Given the description of an element on the screen output the (x, y) to click on. 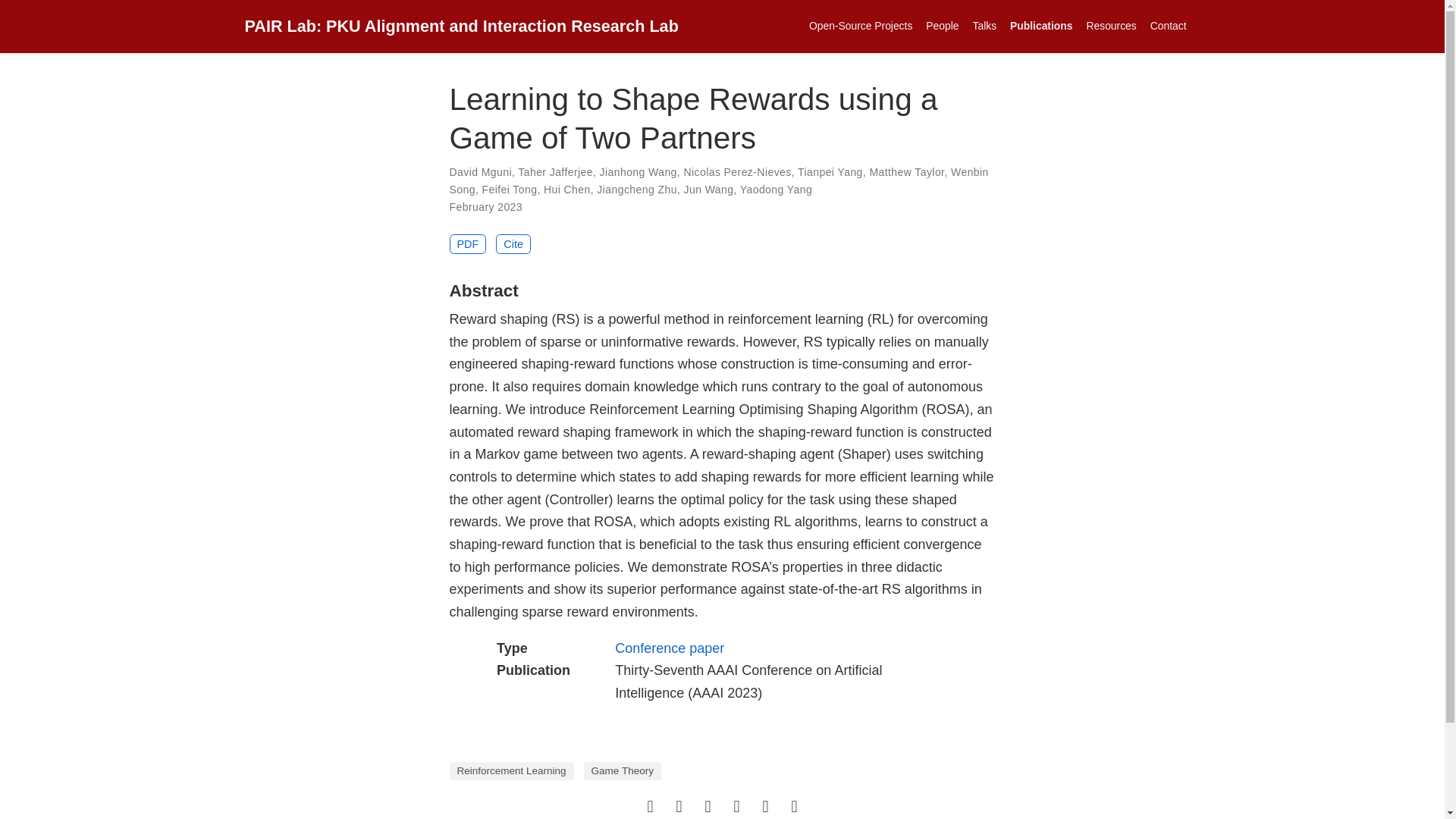
PDF (467, 243)
Jun Wang (708, 189)
PAIR Lab: PKU Alignment and Interaction Research Lab (461, 26)
Hui Chen (567, 189)
Reinforcement Learning (510, 771)
Game Theory (622, 771)
Conference paper (668, 648)
Cite (513, 243)
Jiangcheng Zhu (636, 189)
People (941, 26)
